Given the description of an element on the screen output the (x, y) to click on. 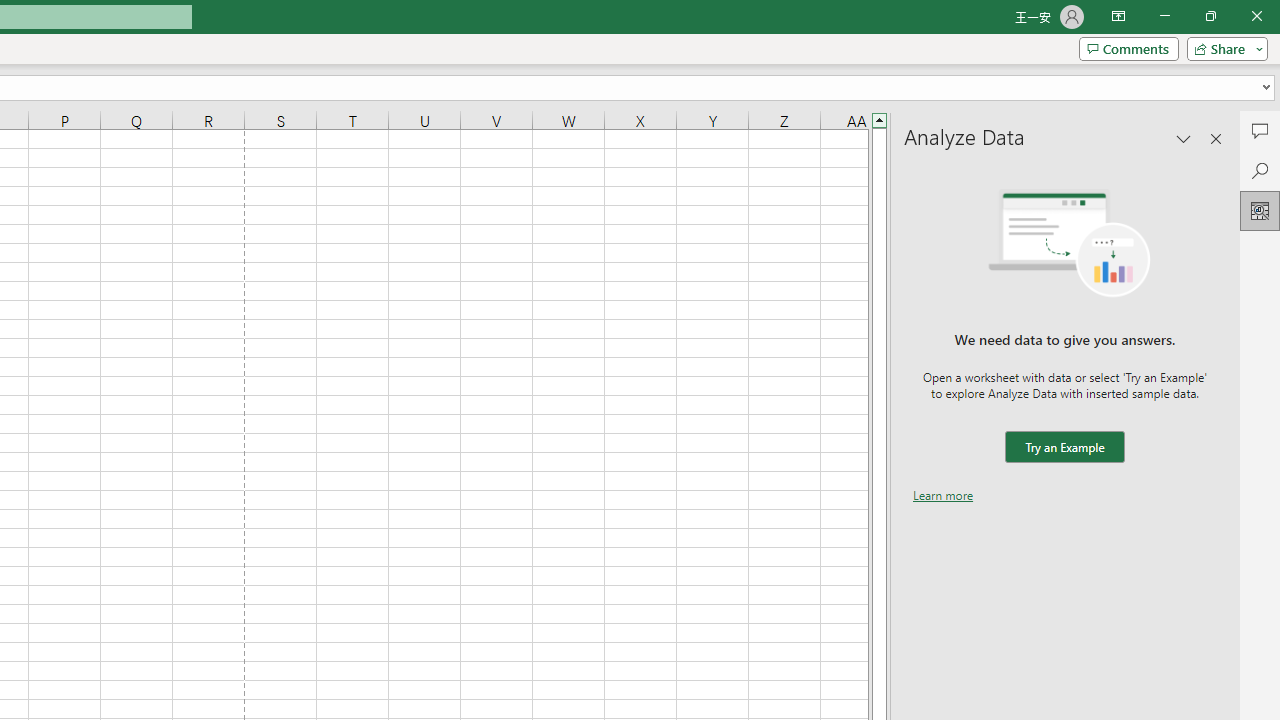
We need data to give you answers. Try an Example (1064, 447)
Learn more (943, 494)
